Given the description of an element on the screen output the (x, y) to click on. 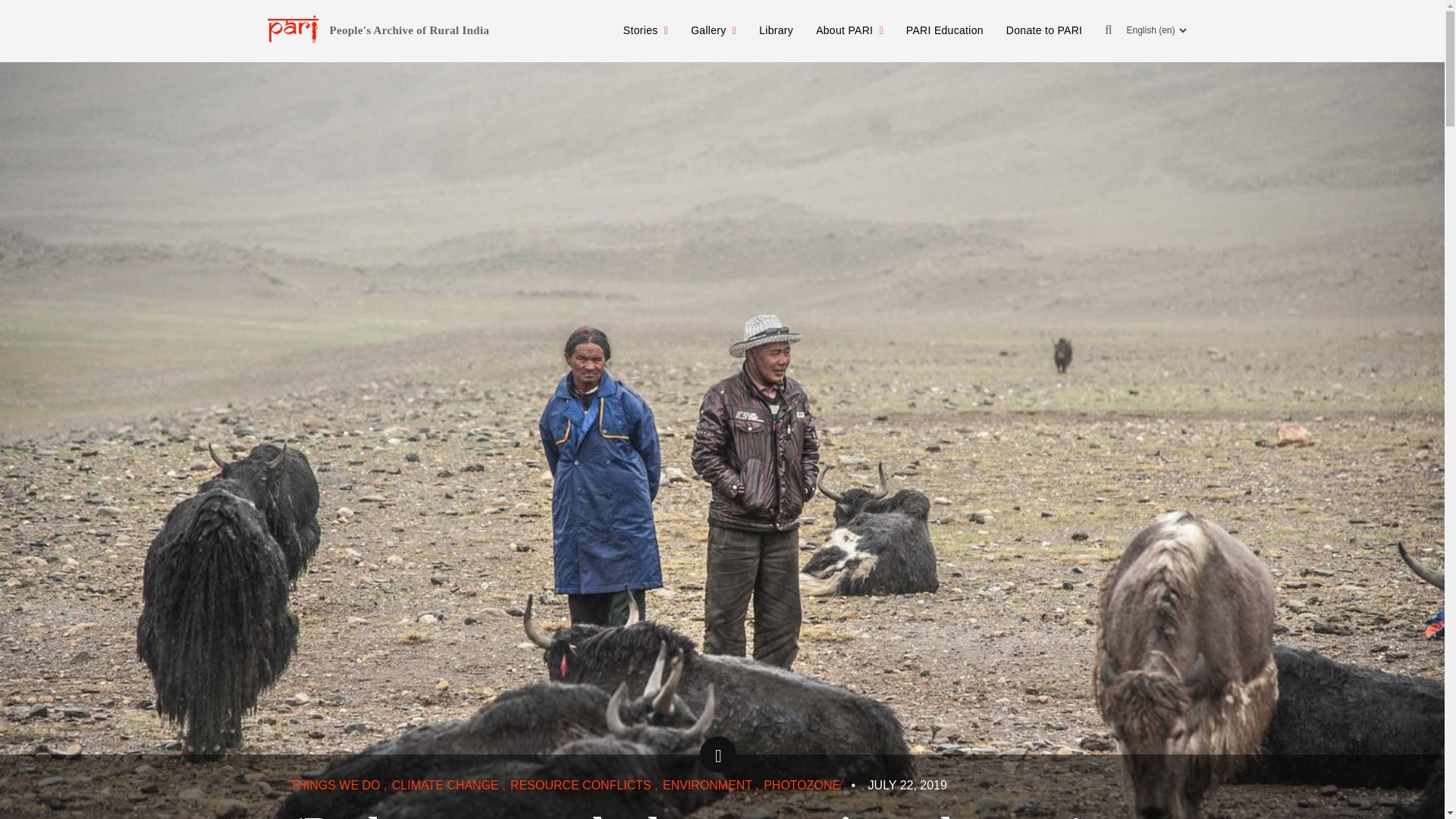
Library (776, 30)
Gallery (713, 30)
People's Archive of Rural India (409, 30)
Stories (645, 30)
About PARI (850, 30)
